Given the description of an element on the screen output the (x, y) to click on. 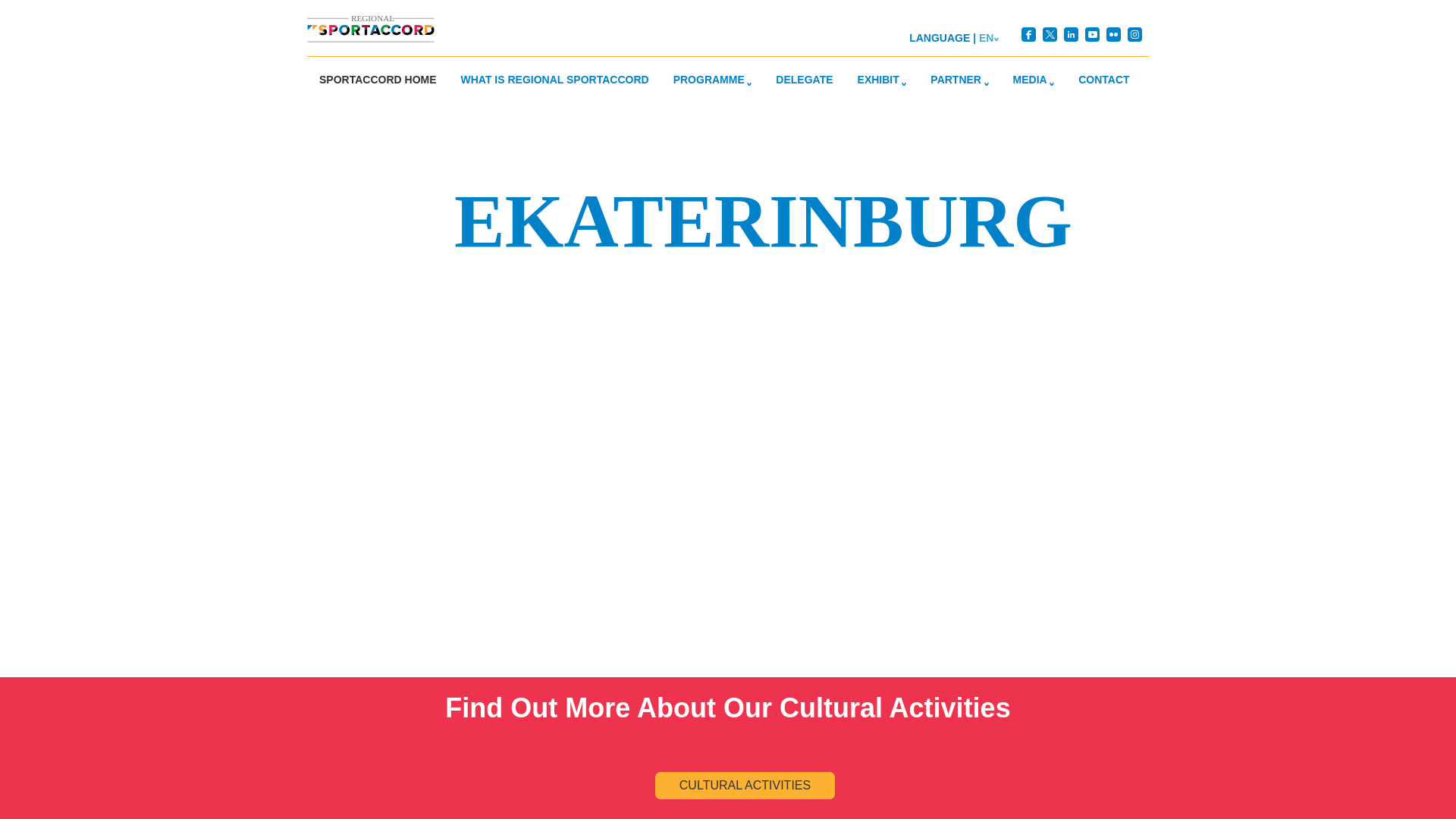
PROGRAMME (712, 79)
CONTACT (1103, 79)
PARTNER (959, 79)
DELEGATE (803, 79)
WHAT IS REGIONAL SPORTACCORD (554, 79)
EXHIBIT (881, 79)
MEDIA (1034, 79)
SPORTACCORD HOME (377, 79)
CULTURAL ACTIVITIES (744, 785)
